Given the description of an element on the screen output the (x, y) to click on. 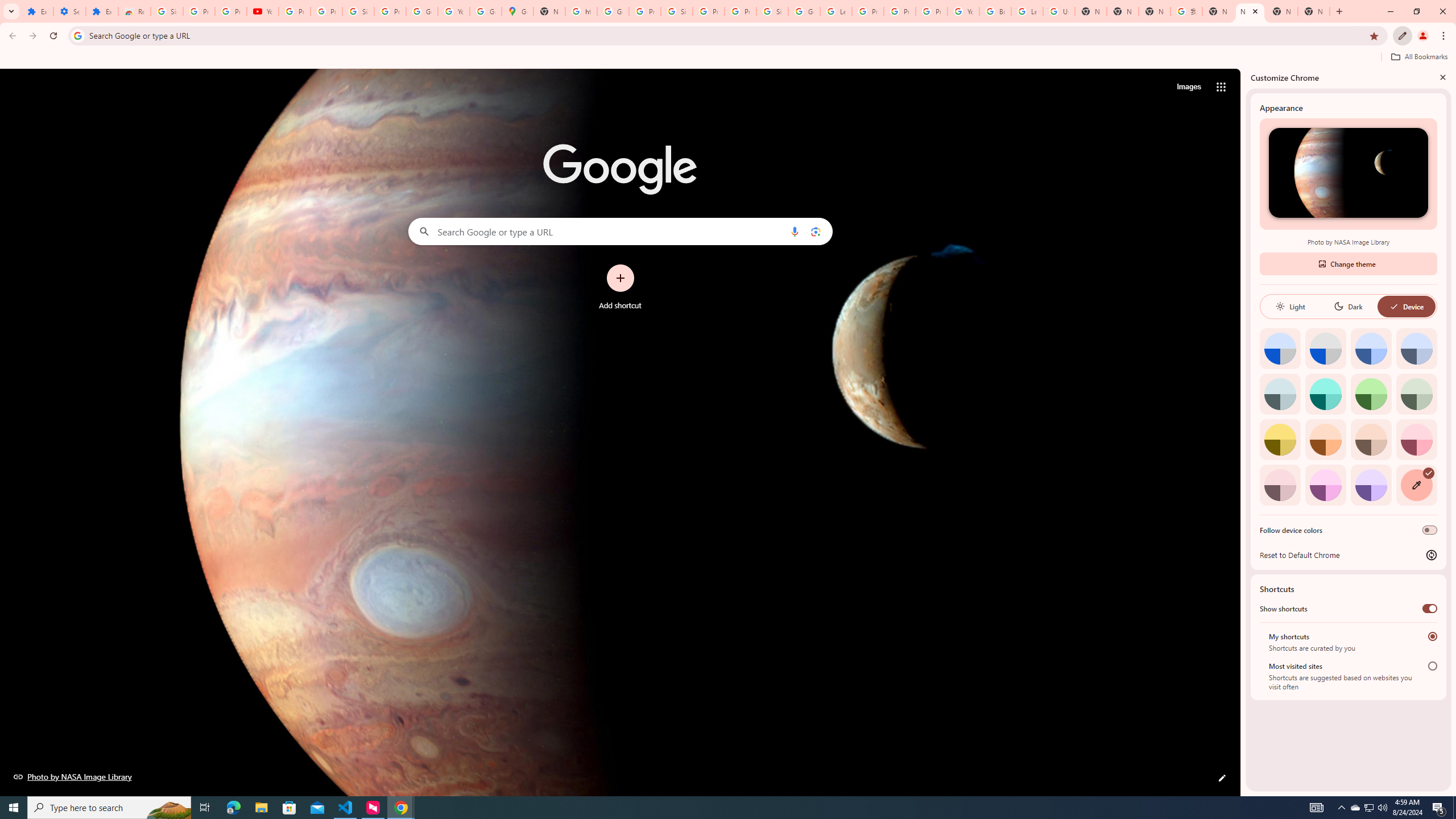
Browse Chrome as a guest - Computer - Google Chrome Help (995, 11)
Search for Images  (1188, 87)
AutomationID: svg (1428, 472)
AutomationID: baseSvg (1394, 306)
Violet (1371, 484)
Search icon (77, 35)
Dark (1348, 305)
